Given the description of an element on the screen output the (x, y) to click on. 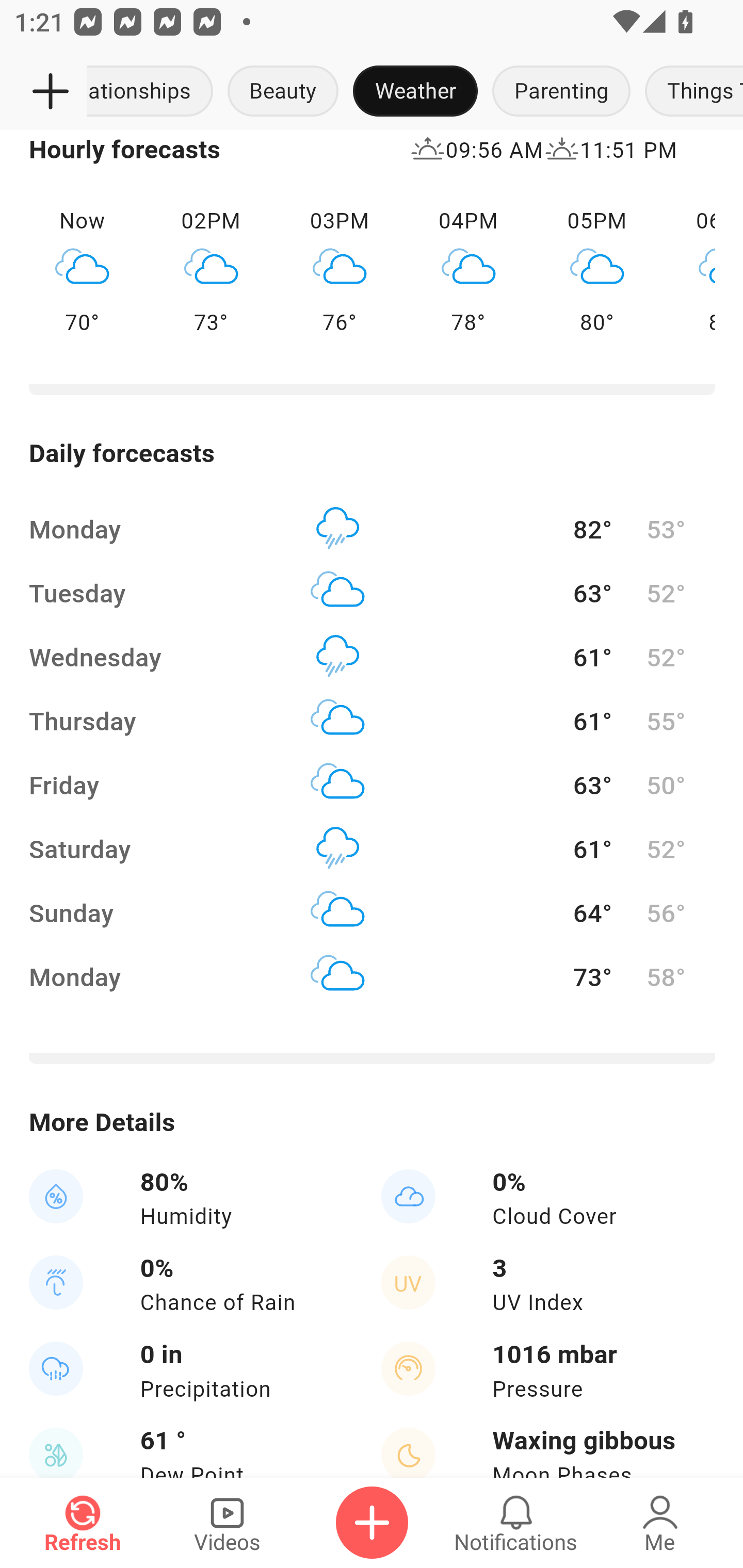
Relationships (153, 91)
Beauty (282, 91)
Weather (415, 91)
Parenting (561, 91)
Things To Do (690, 91)
Videos (227, 1522)
Notifications (516, 1522)
Me (659, 1522)
